Given the description of an element on the screen output the (x, y) to click on. 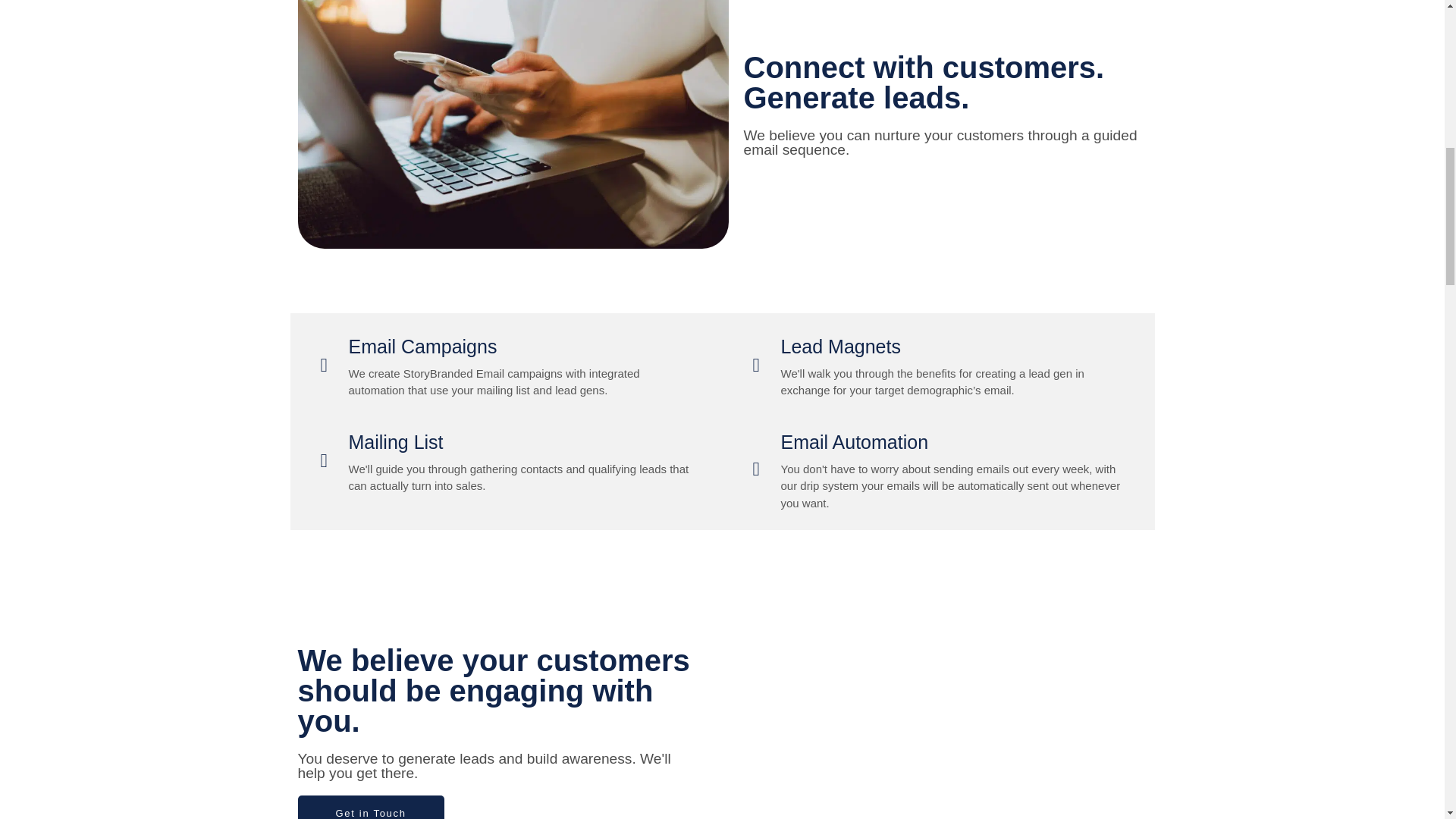
Email Campaigns (423, 346)
Mailing List (396, 441)
Get in Touch (370, 807)
Lead Magnets (840, 346)
Email Automation (854, 441)
